Given the description of an element on the screen output the (x, y) to click on. 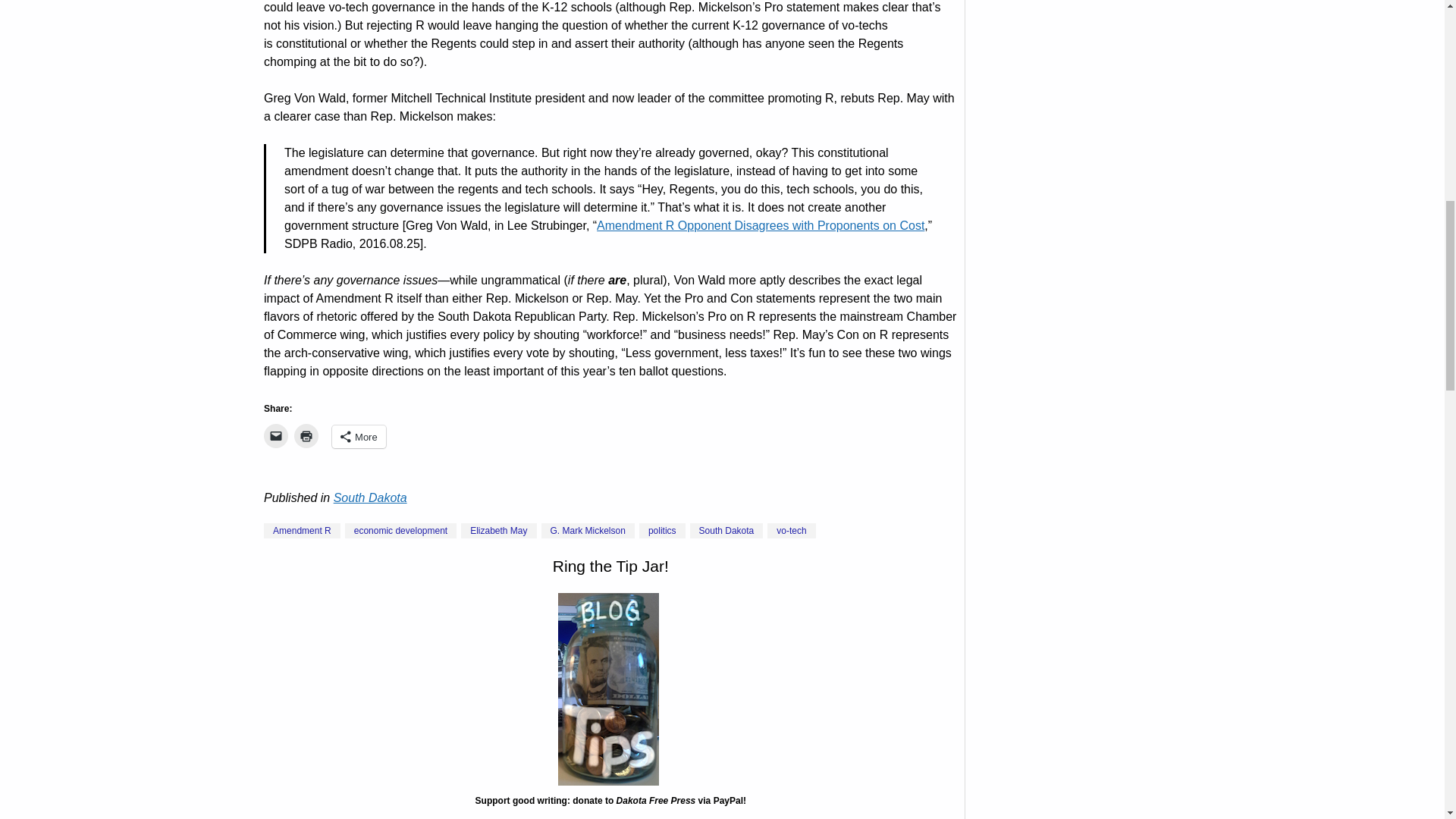
View all posts tagged Elizabeth May (498, 530)
View all posts tagged economic development (401, 530)
View all posts tagged G. Mark Mickelson (587, 530)
View all posts in South Dakota (370, 497)
Click to print (306, 435)
Click to email a link to a friend (275, 435)
View all posts tagged Amendment R (301, 530)
